Given the description of an element on the screen output the (x, y) to click on. 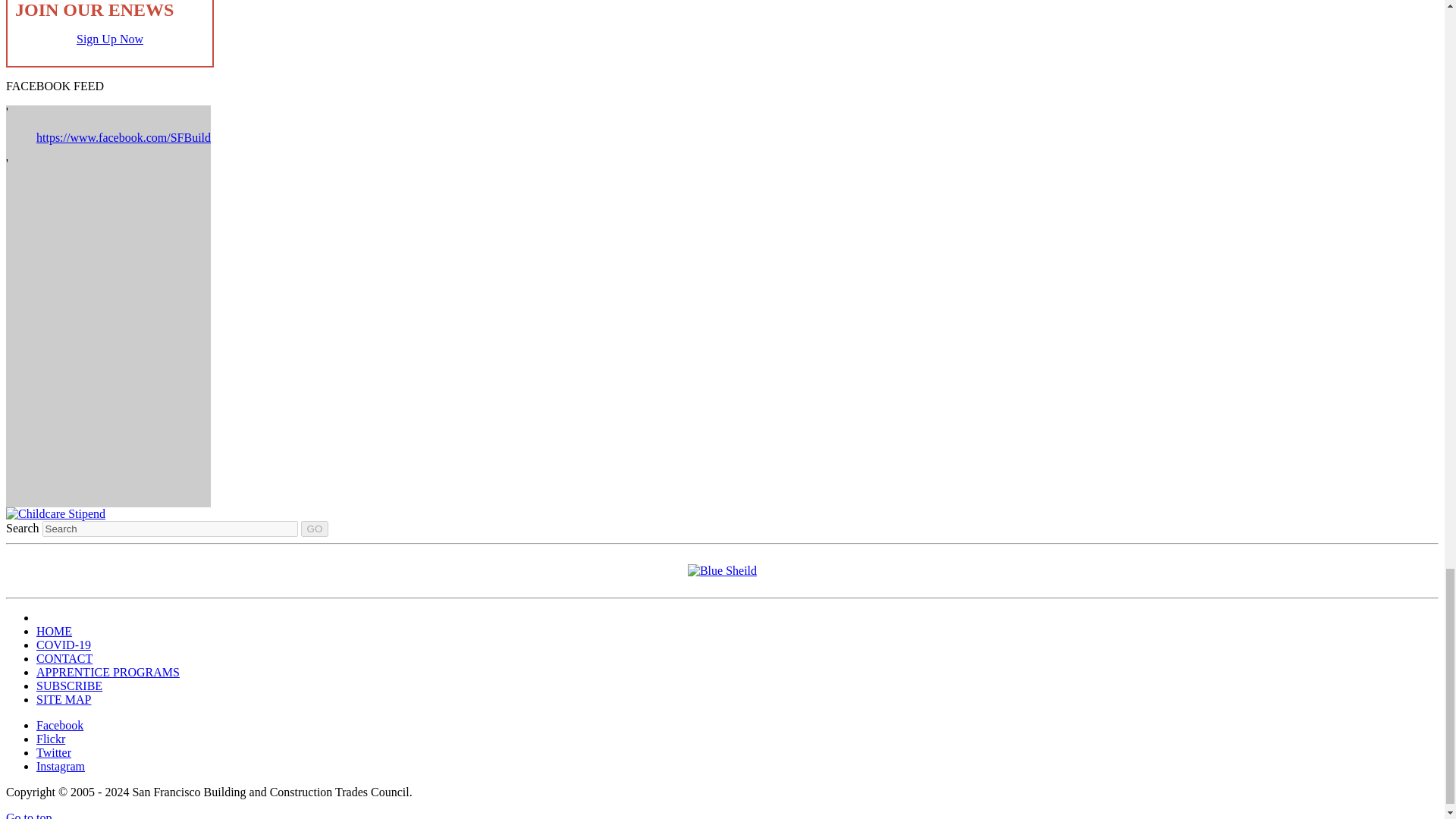
Flickr (50, 738)
Twitter (53, 752)
Search (170, 528)
Facebook (59, 725)
Instagram (60, 766)
BLUE SHEILD FOOTER BANNER 3 (722, 570)
Search (170, 528)
Childcare Stipend 2 (54, 513)
